Given the description of an element on the screen output the (x, y) to click on. 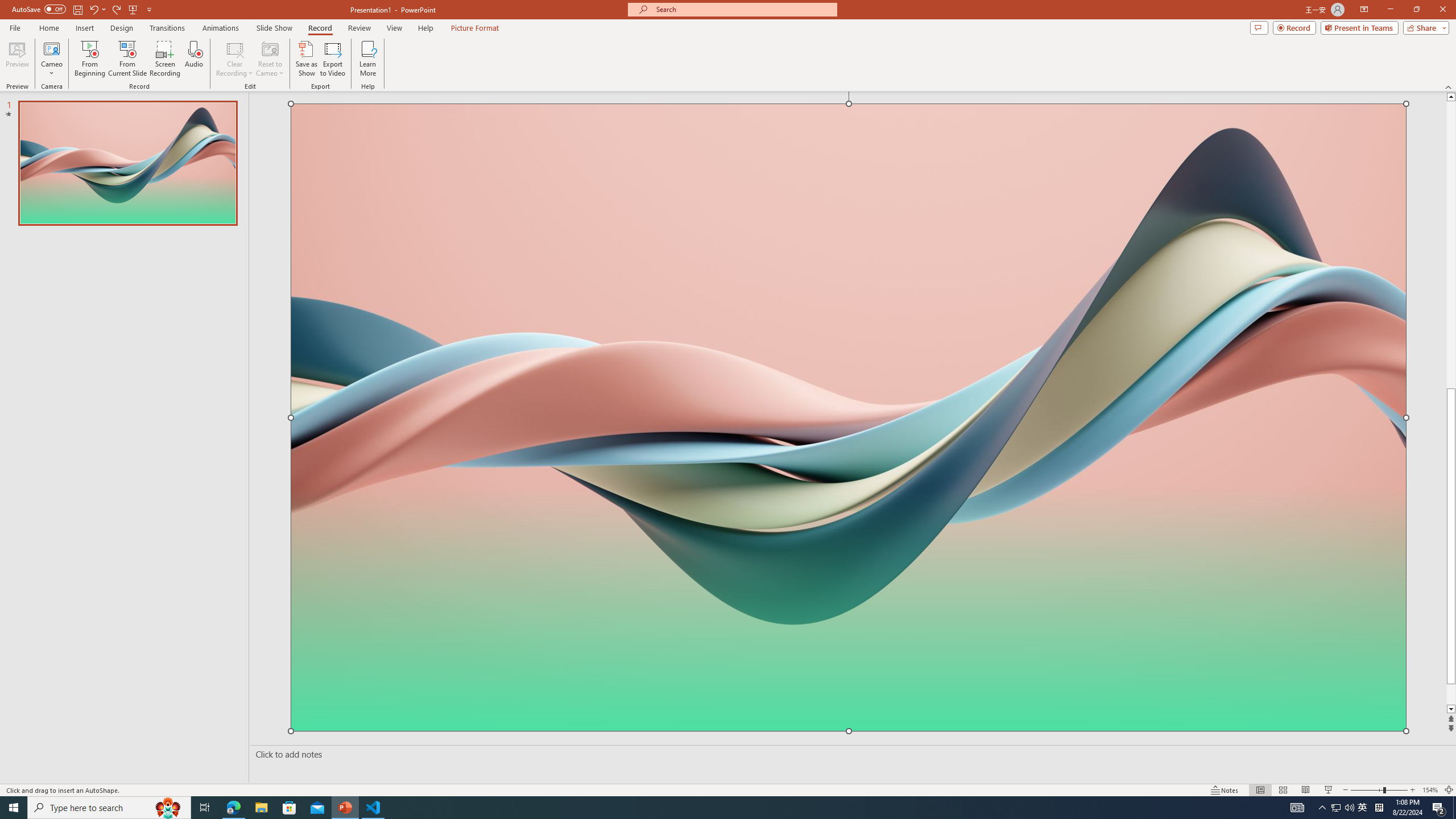
Decorative Locked (848, 588)
